Given the description of an element on the screen output the (x, y) to click on. 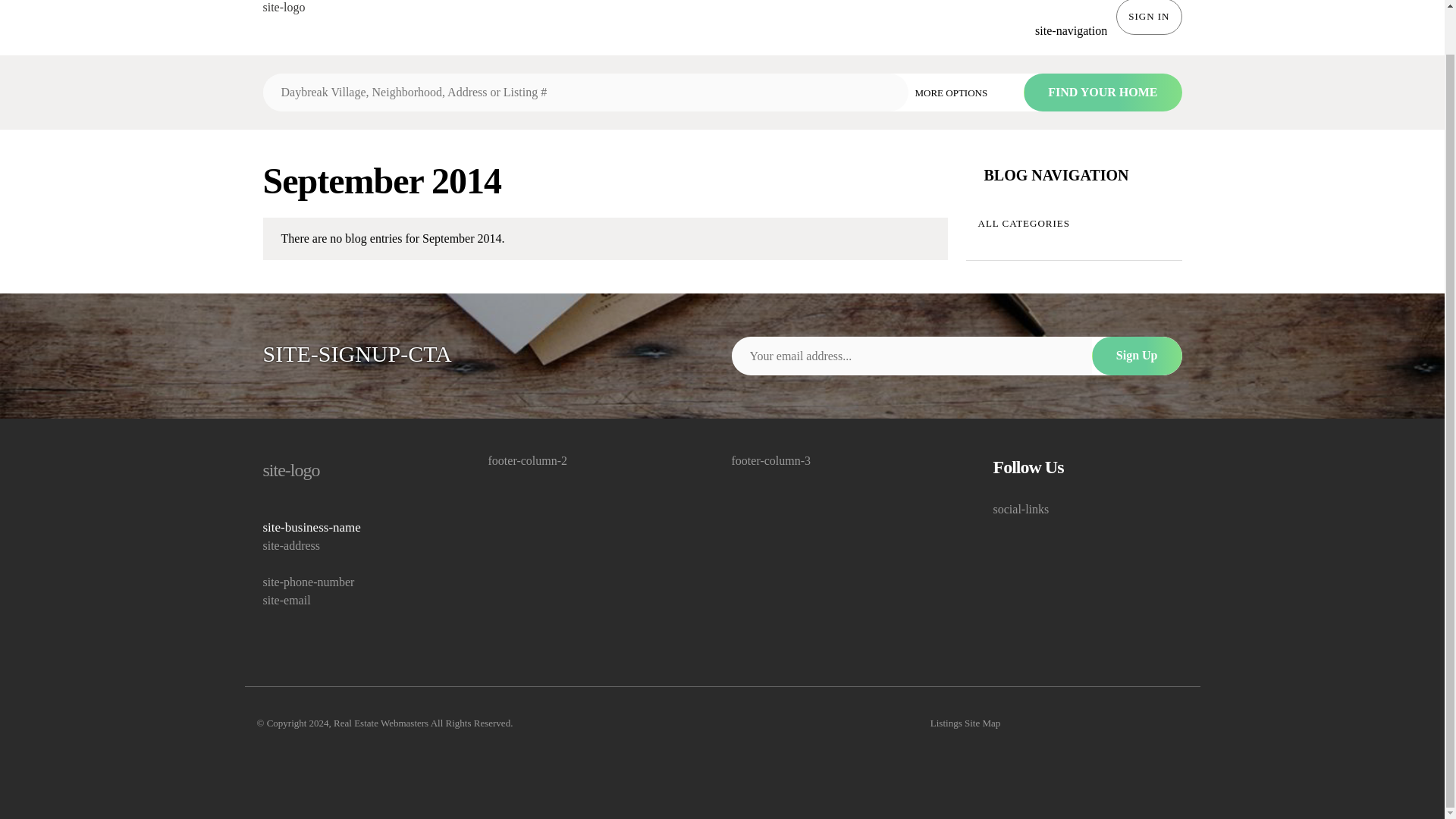
Sign Up (1137, 355)
site-email (356, 600)
SIGN IN (1148, 17)
site-logo (283, 8)
FIND YOUR HOME (1101, 92)
site-logo (356, 469)
Real Estate Webmasters (380, 722)
MORE OPTIONS (962, 91)
ALL CATEGORIES (1074, 223)
Listings Site Map (964, 723)
